Given the description of an element on the screen output the (x, y) to click on. 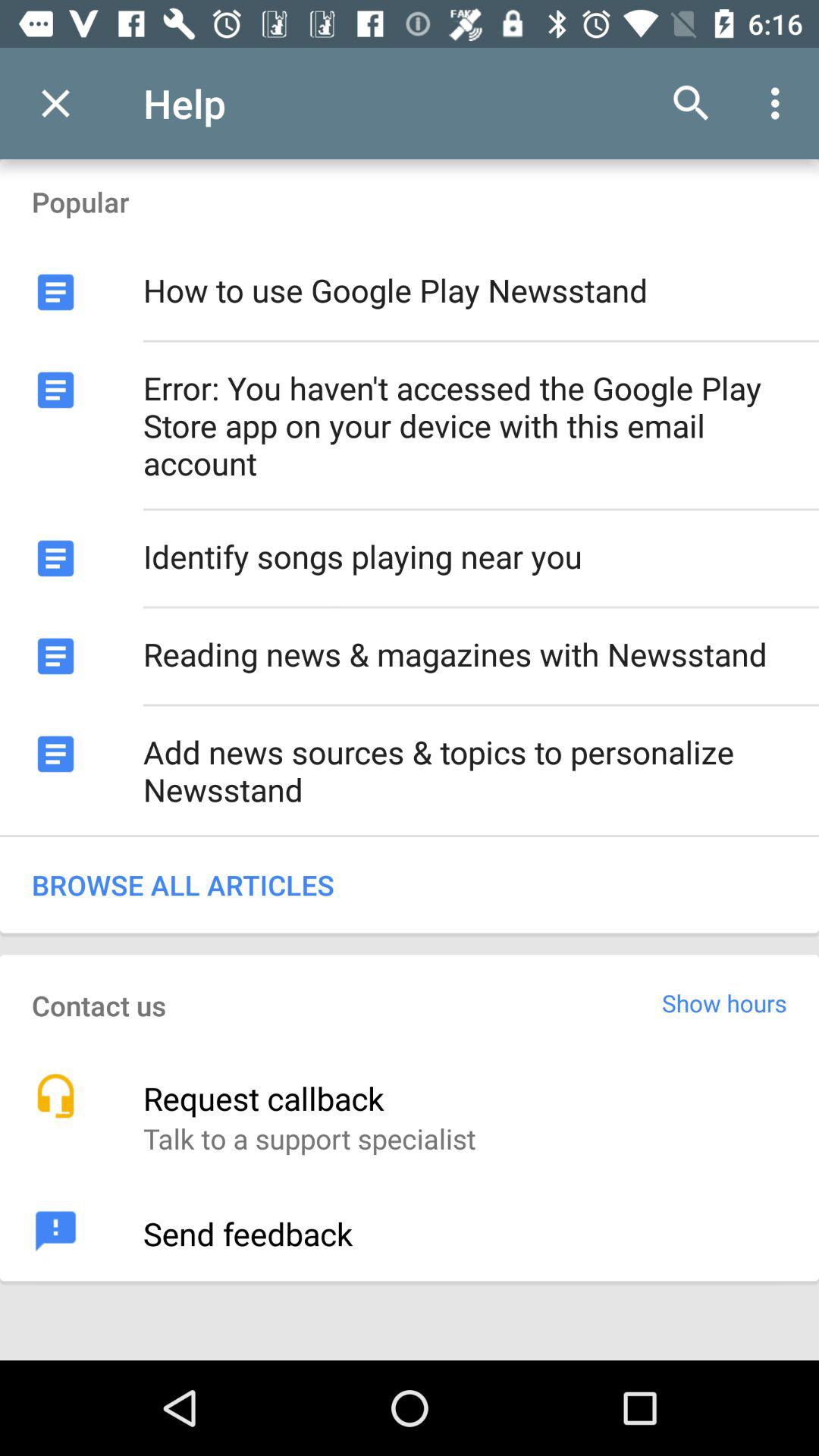
turn on item above the popular item (55, 103)
